Given the description of an element on the screen output the (x, y) to click on. 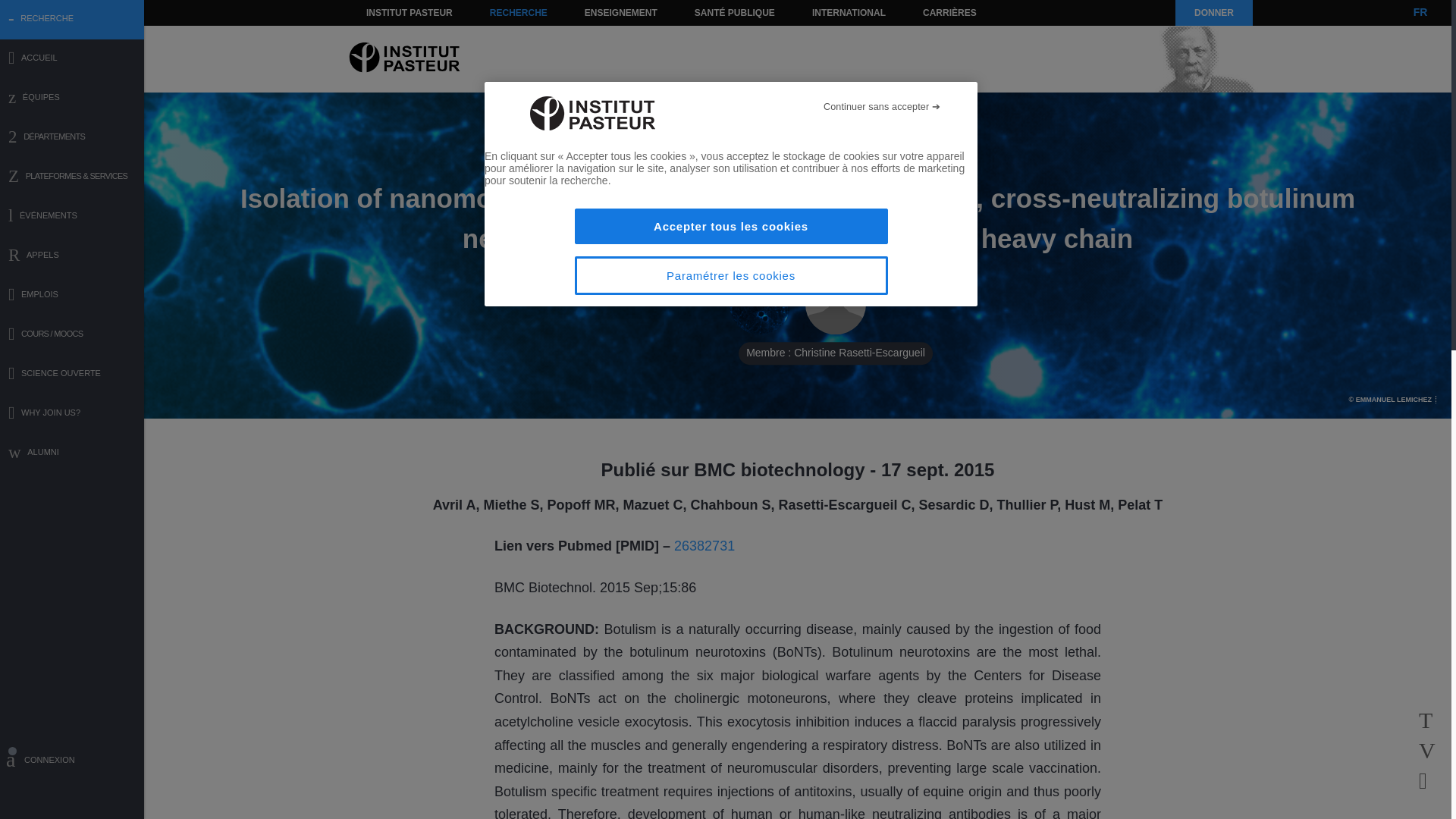
Aller au contenu (391, 11)
SCIENCE OUVERTE (72, 374)
RECHERCHE (518, 12)
INSTITUT PASTEUR (409, 12)
Membre : Christine Rasetti-Escargueil (835, 304)
APPELS (72, 256)
ALUMNI (72, 454)
INTERNATIONAL (848, 12)
DONNER (1213, 12)
ENSEIGNEMENT (620, 12)
